Given the description of an element on the screen output the (x, y) to click on. 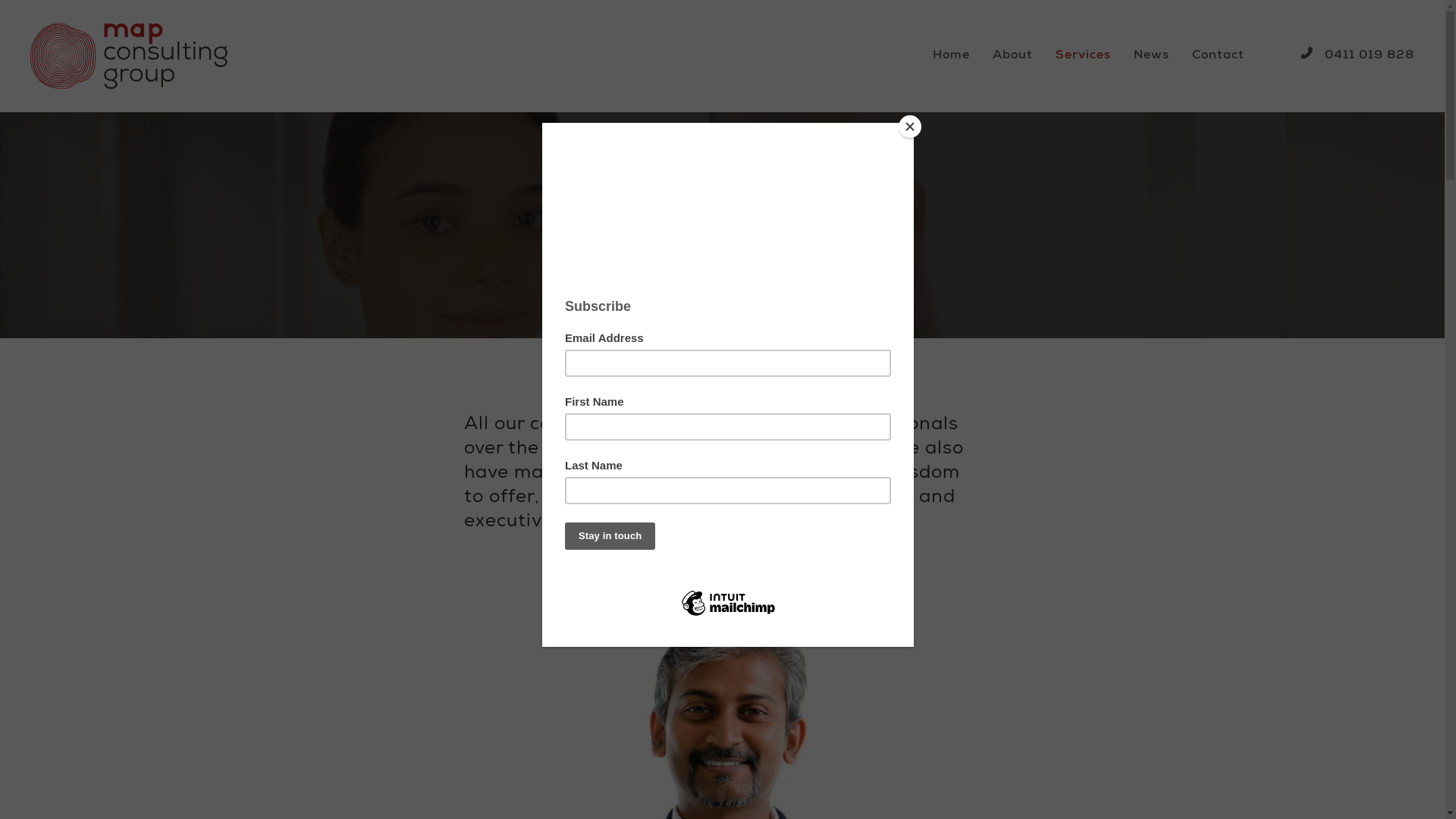
Home Element type: text (950, 56)
0411 019 828 Element type: text (1357, 56)
Services Element type: text (1082, 56)
Harnessing the experience of Mature Age Professionals Element type: hover (191, 55)
News Element type: text (1151, 56)
About Element type: text (1012, 56)
Contact Element type: text (1218, 56)
